Given the description of an element on the screen output the (x, y) to click on. 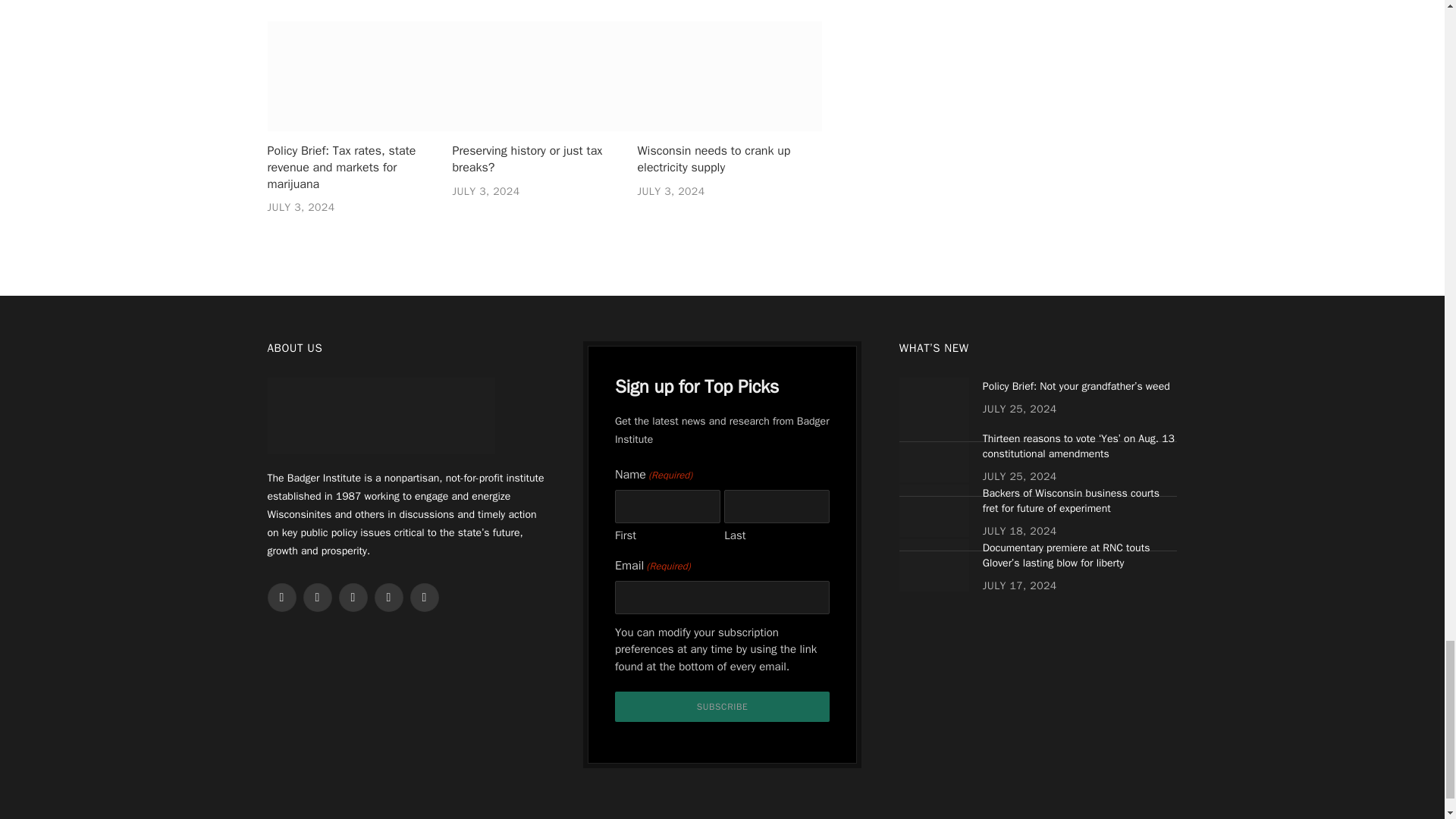
Subscribe (721, 706)
